Given the description of an element on the screen output the (x, y) to click on. 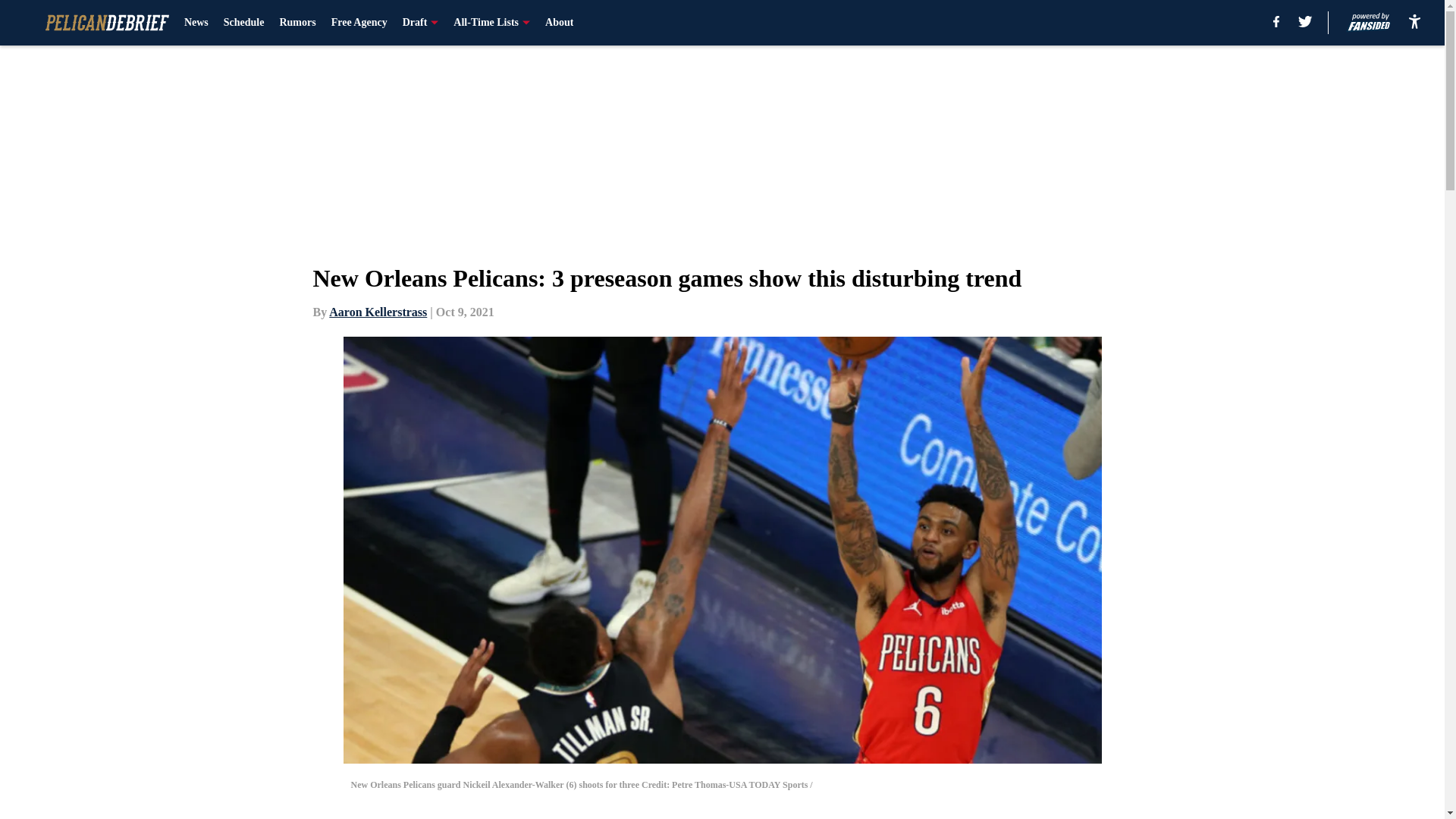
News (196, 22)
Rumors (297, 22)
All-Time Lists (490, 22)
Aaron Kellerstrass (377, 311)
Schedule (244, 22)
Free Agency (359, 22)
Draft (421, 22)
About (558, 22)
